Given the description of an element on the screen output the (x, y) to click on. 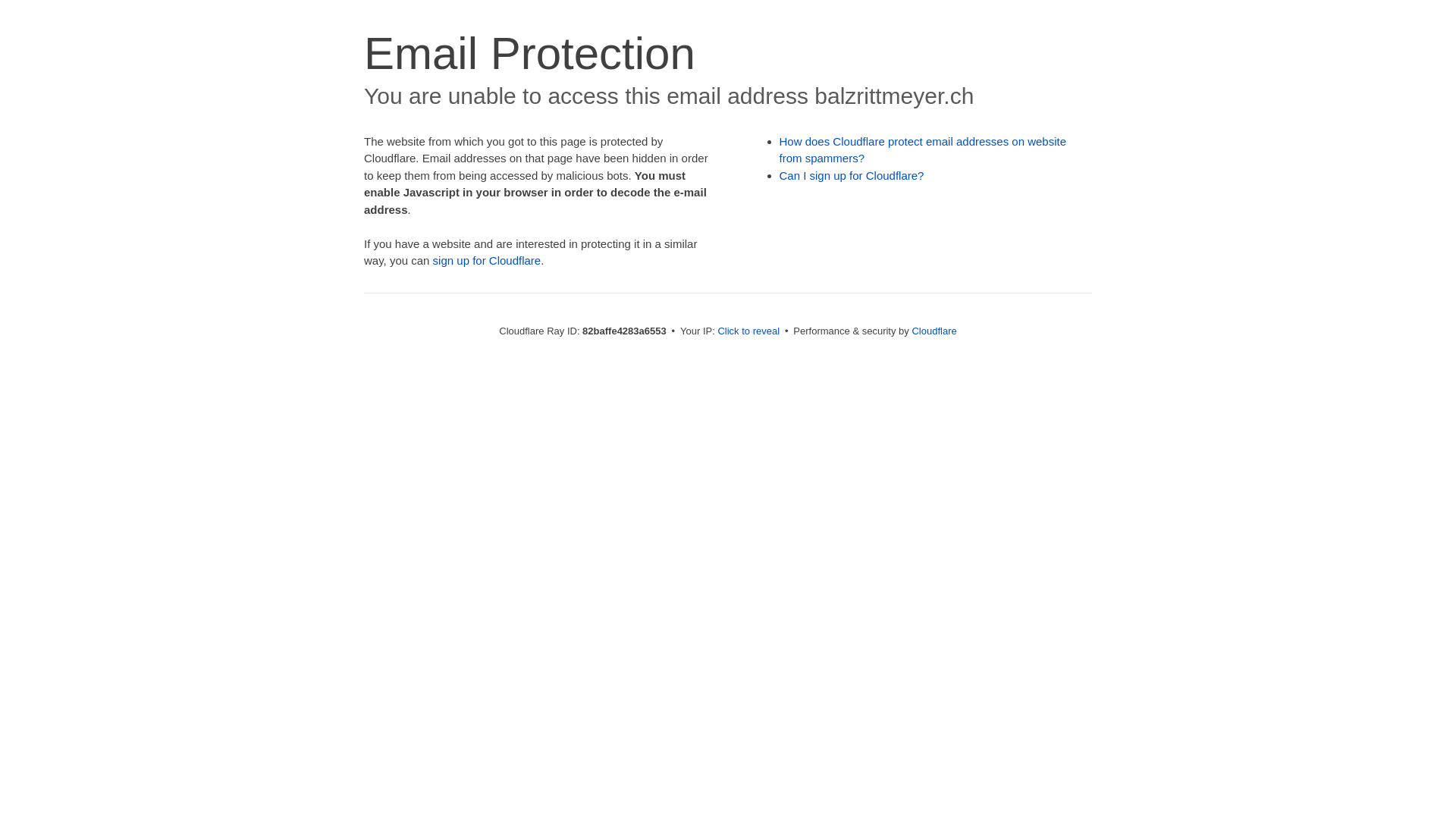
Can I sign up for Cloudflare? Element type: text (851, 175)
Cloudflare Element type: text (933, 330)
sign up for Cloudflare Element type: text (487, 260)
Click to reveal Element type: text (748, 330)
